Given the description of an element on the screen output the (x, y) to click on. 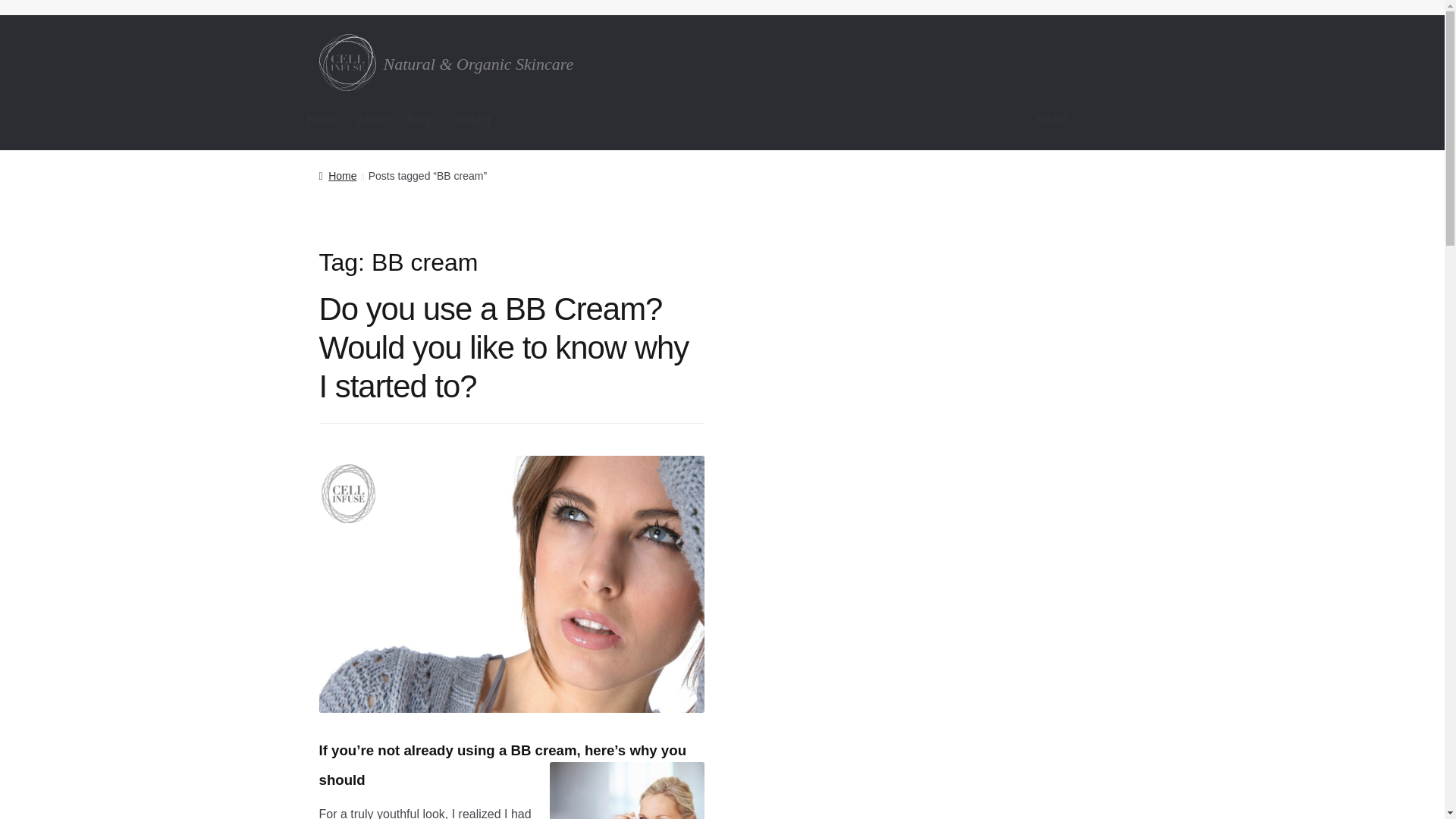
Contact (469, 119)
View your shopping cart (1002, 119)
Home (337, 175)
